Given the description of an element on the screen output the (x, y) to click on. 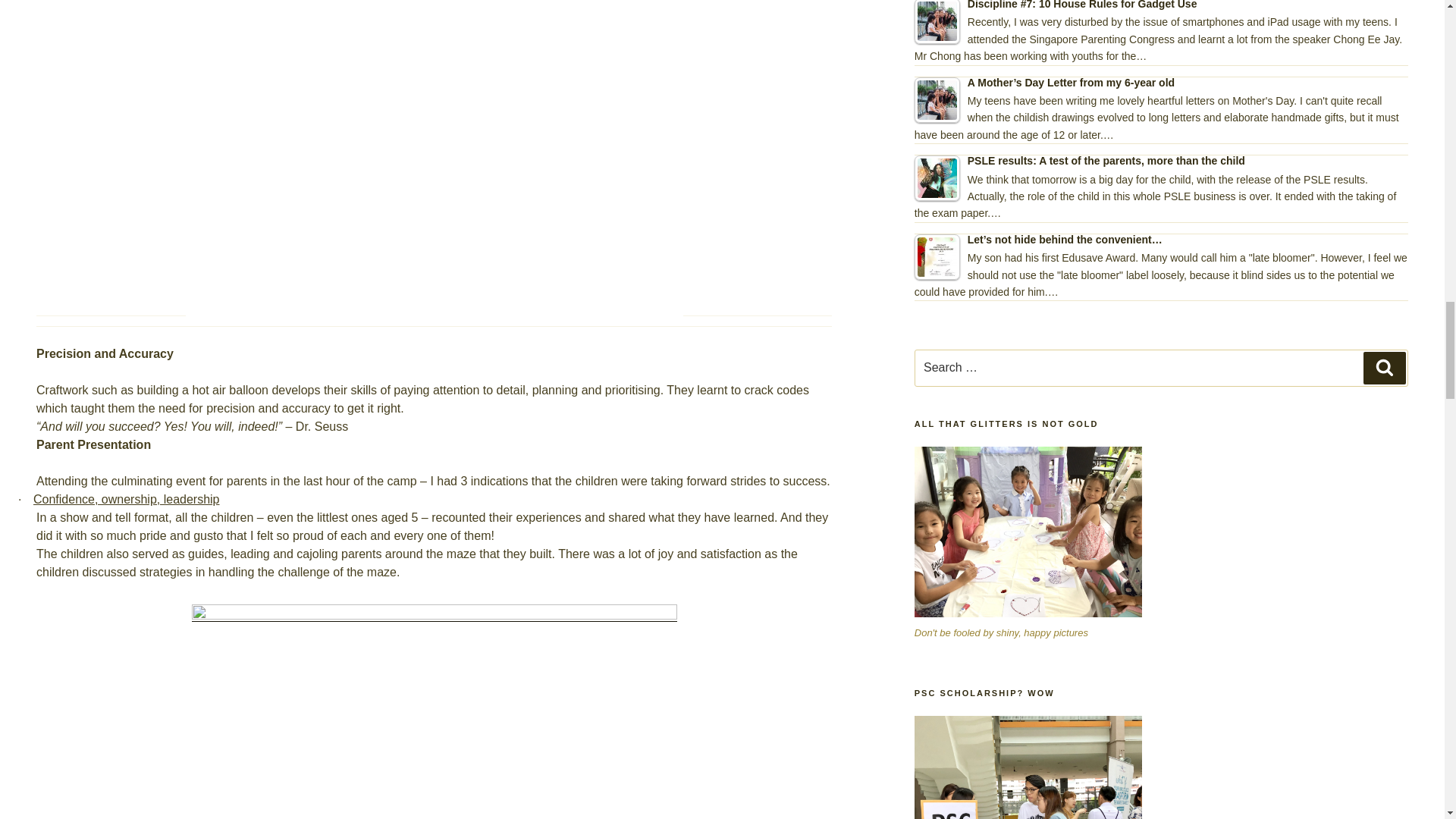
PSC Scholarship? Wow (1027, 767)
ALL THAT GLITTERS IS NOT GOLD (1027, 531)
PSLE results: A test of the parents, more than the child (936, 177)
A Mother's Day Letter from my 6-year old (936, 99)
